Given the description of an element on the screen output the (x, y) to click on. 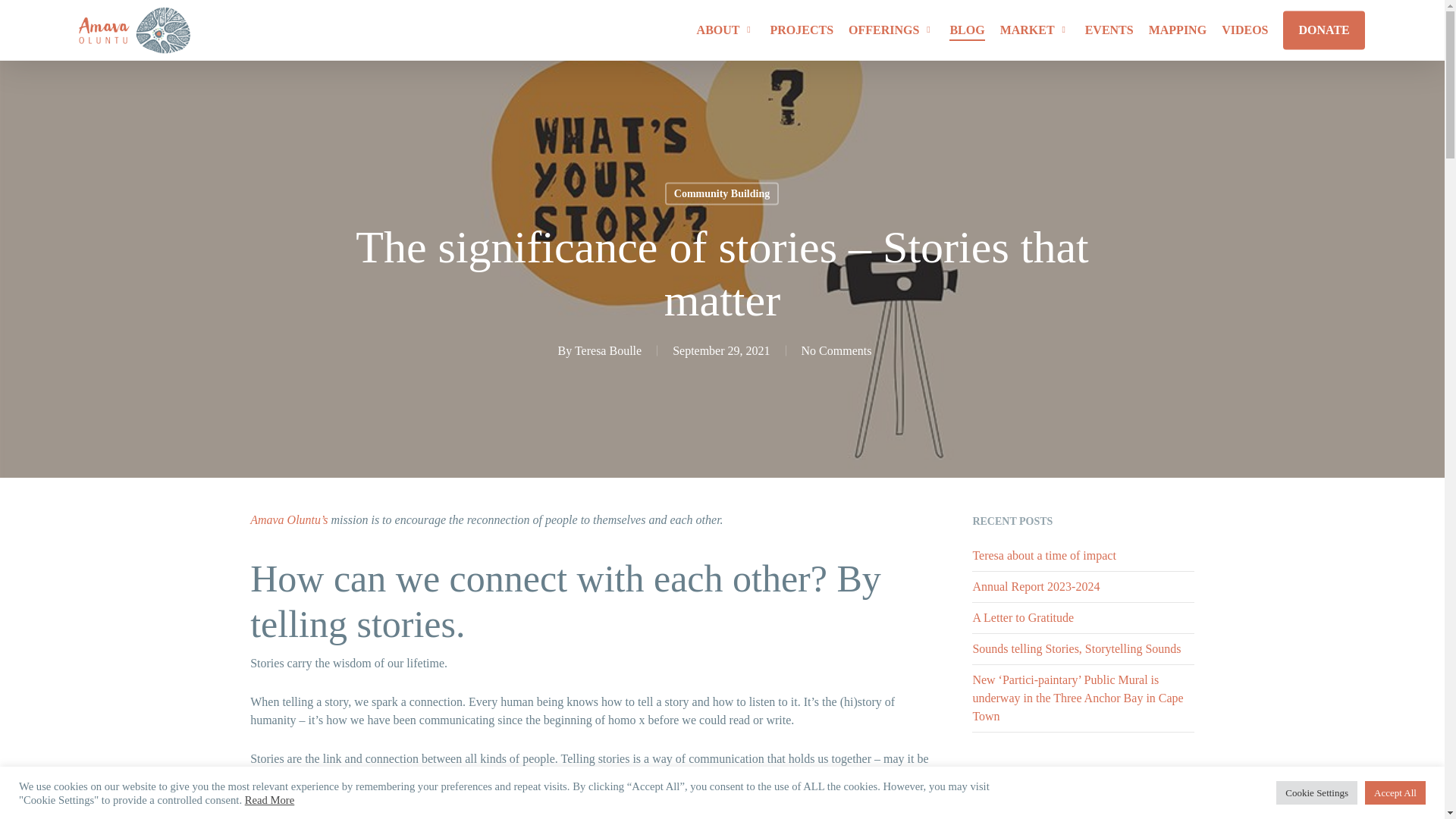
OFFERINGS (891, 30)
Teresa about a time of impact (1043, 554)
Posts by Teresa Boulle (608, 350)
VIDEOS (1244, 30)
MARKET (1035, 30)
June 2024 (997, 815)
A Letter to Gratitude (1023, 617)
MAPPING (1177, 30)
PROJECTS (802, 30)
Community Building (721, 192)
DONATE (1323, 30)
Teresa Boulle (608, 350)
0 (1388, 37)
Annual Report 2023-2024 (1035, 585)
Sounds telling Stories, Storytelling Sounds (1076, 648)
